Given the description of an element on the screen output the (x, y) to click on. 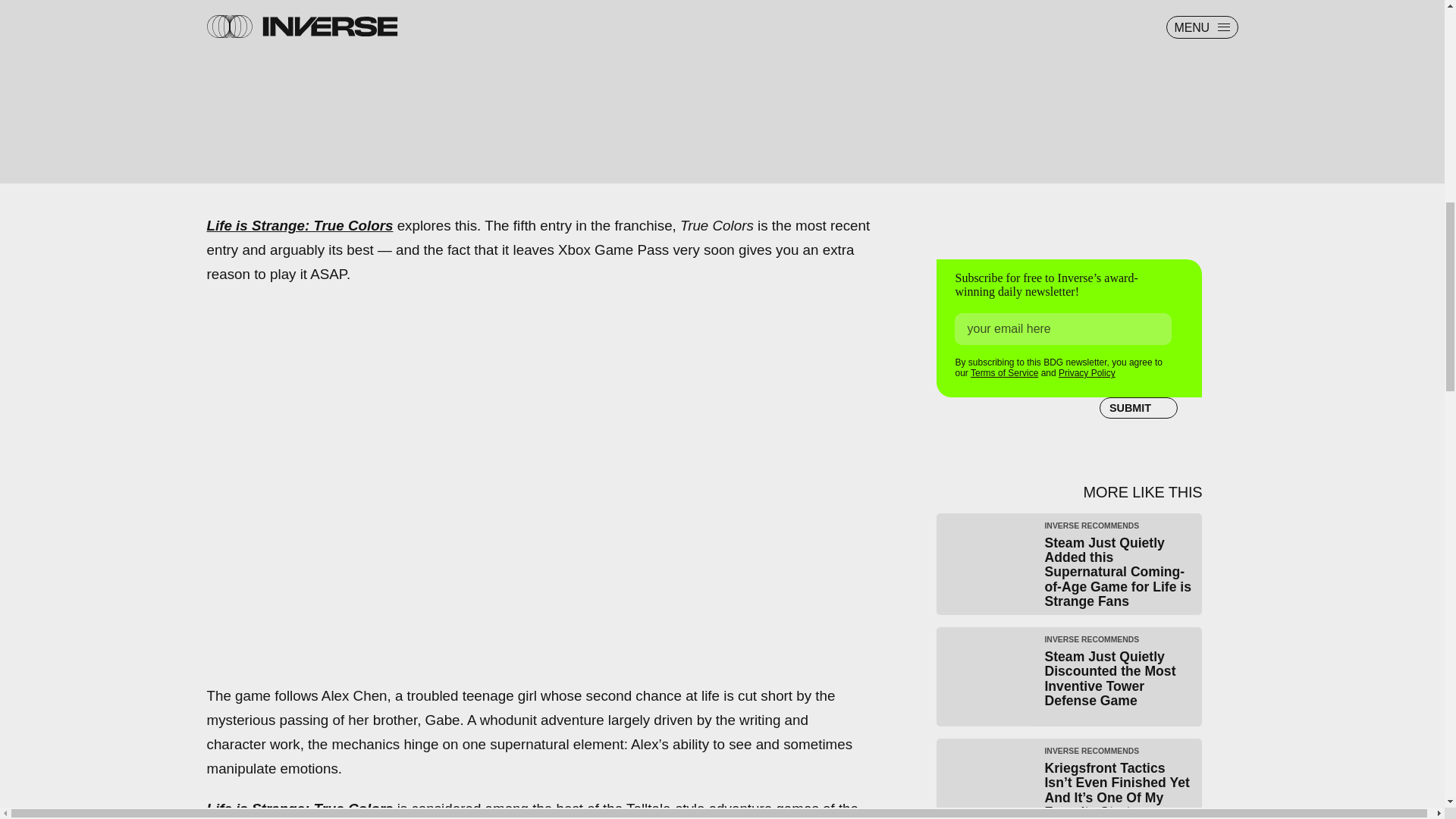
Life is Strange: True Colors (299, 225)
Terms of Service (1004, 372)
SUBMIT (1138, 407)
Privacy Policy (1086, 372)
Life is Strange: True Colors (299, 808)
